Given the description of an element on the screen output the (x, y) to click on. 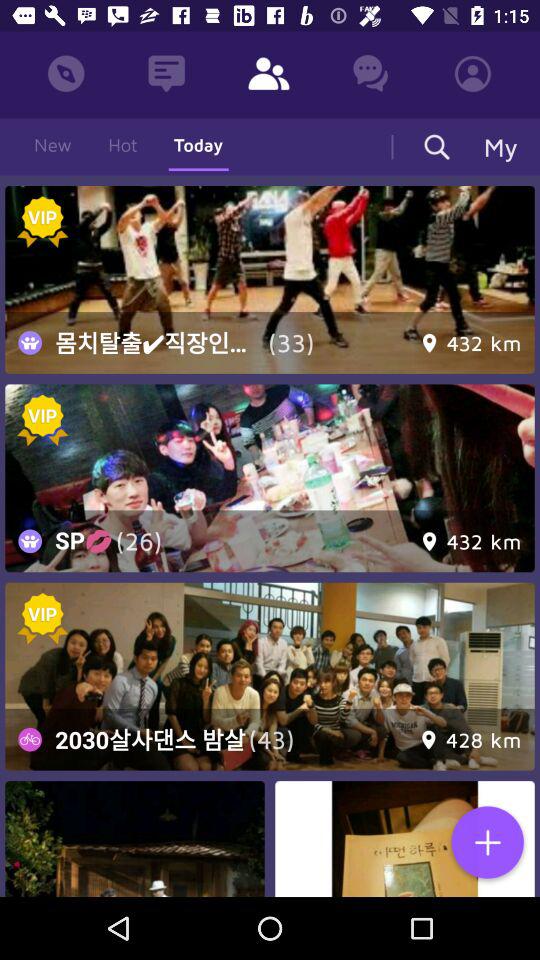
image icon (134, 839)
